Given the description of an element on the screen output the (x, y) to click on. 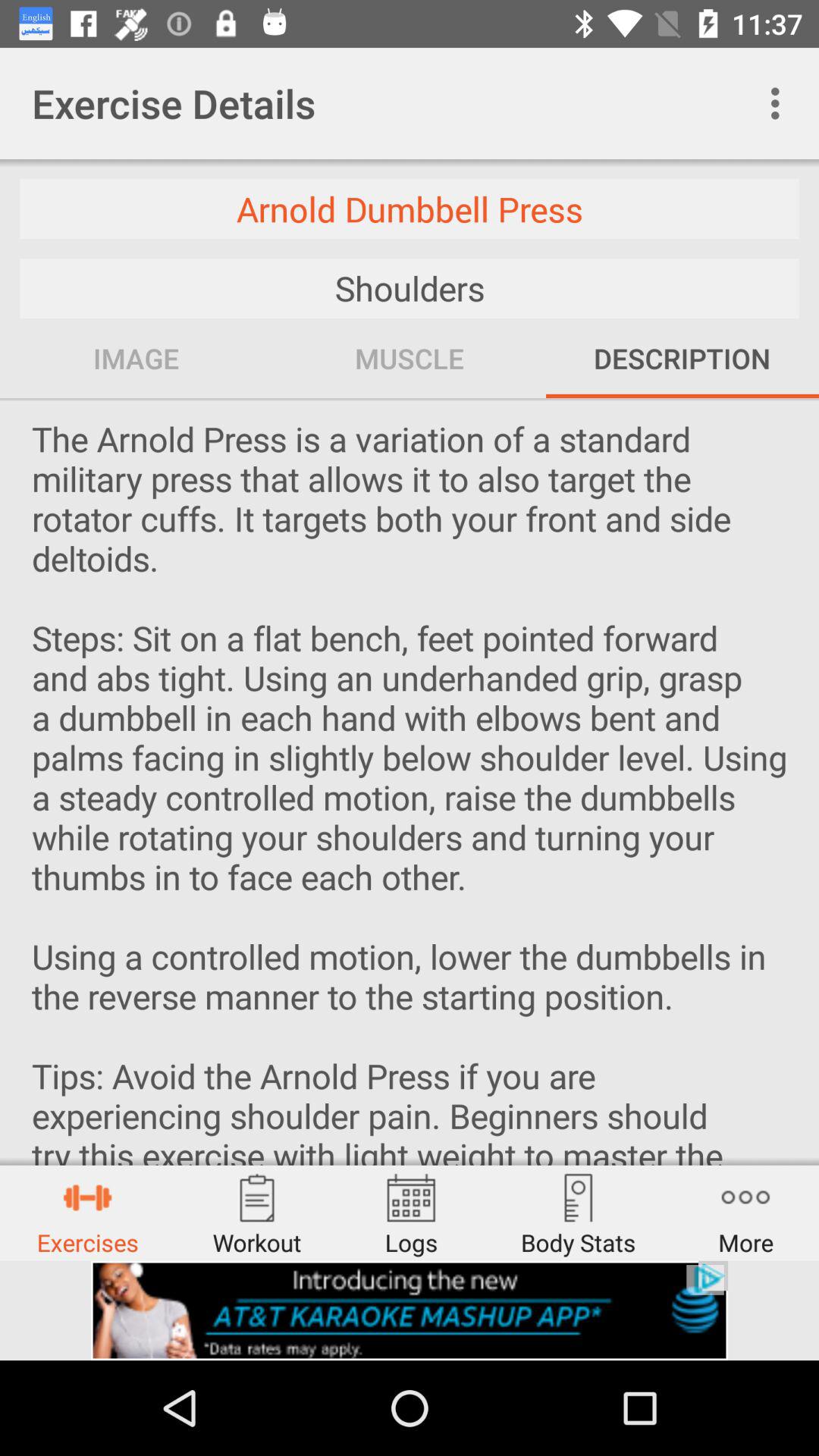
advertisement banner (409, 1310)
